Given the description of an element on the screen output the (x, y) to click on. 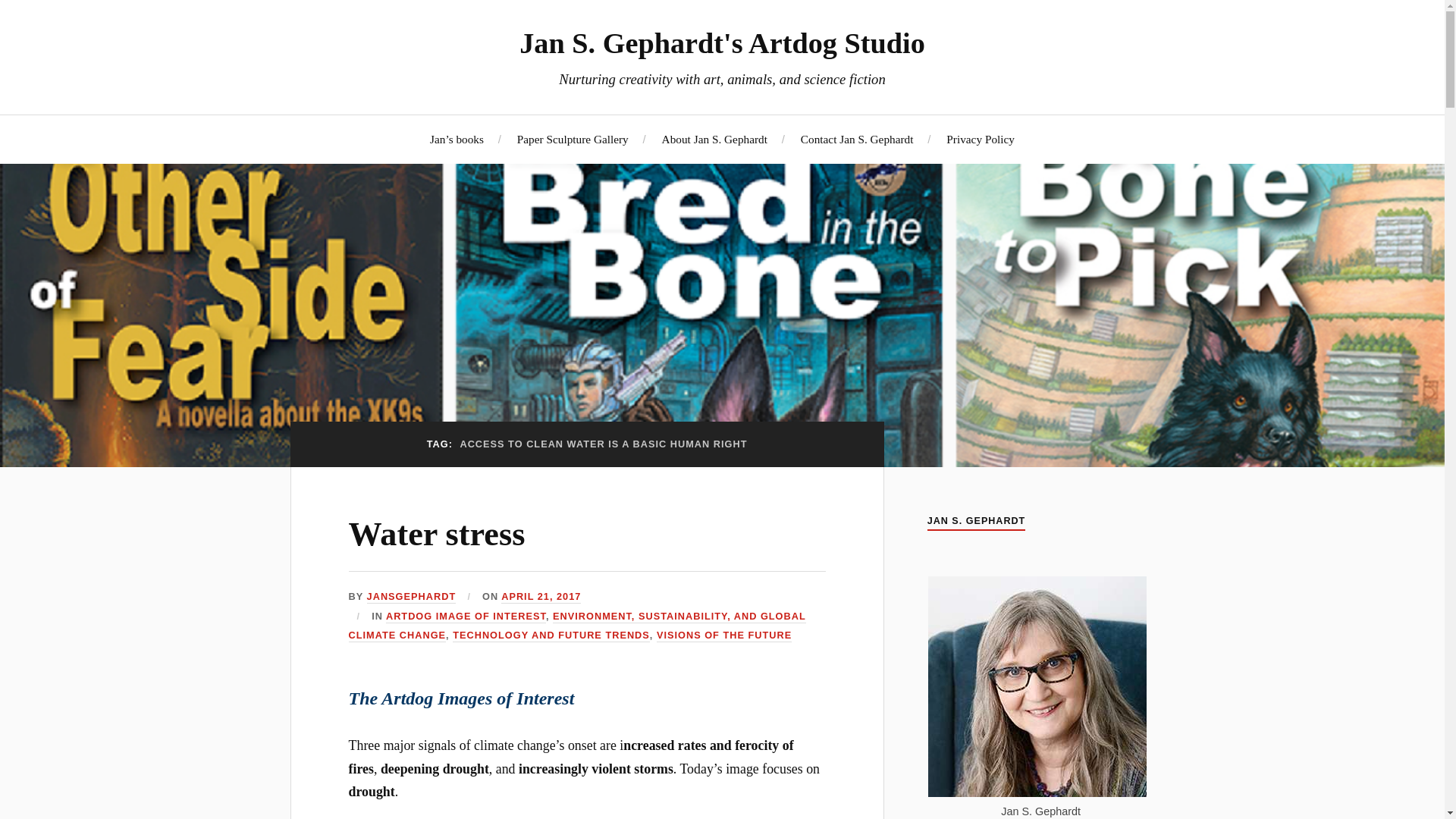
ARTDOG IMAGE OF INTEREST (465, 616)
TECHNOLOGY AND FUTURE TRENDS (550, 635)
Jan S. Gephardt's Artdog Studio (721, 42)
VISIONS OF THE FUTURE (724, 635)
Posts by jansgephardt (411, 596)
JANSGEPHARDT (411, 596)
Privacy Policy (980, 138)
About Jan S. Gephardt (714, 138)
Water stress (437, 533)
Contact Jan S. Gephardt (857, 138)
ENVIRONMENT, SUSTAINABILITY, AND GLOBAL CLIMATE CHANGE (577, 626)
Paper Sculpture Gallery (572, 138)
APRIL 21, 2017 (540, 596)
